Given the description of an element on the screen output the (x, y) to click on. 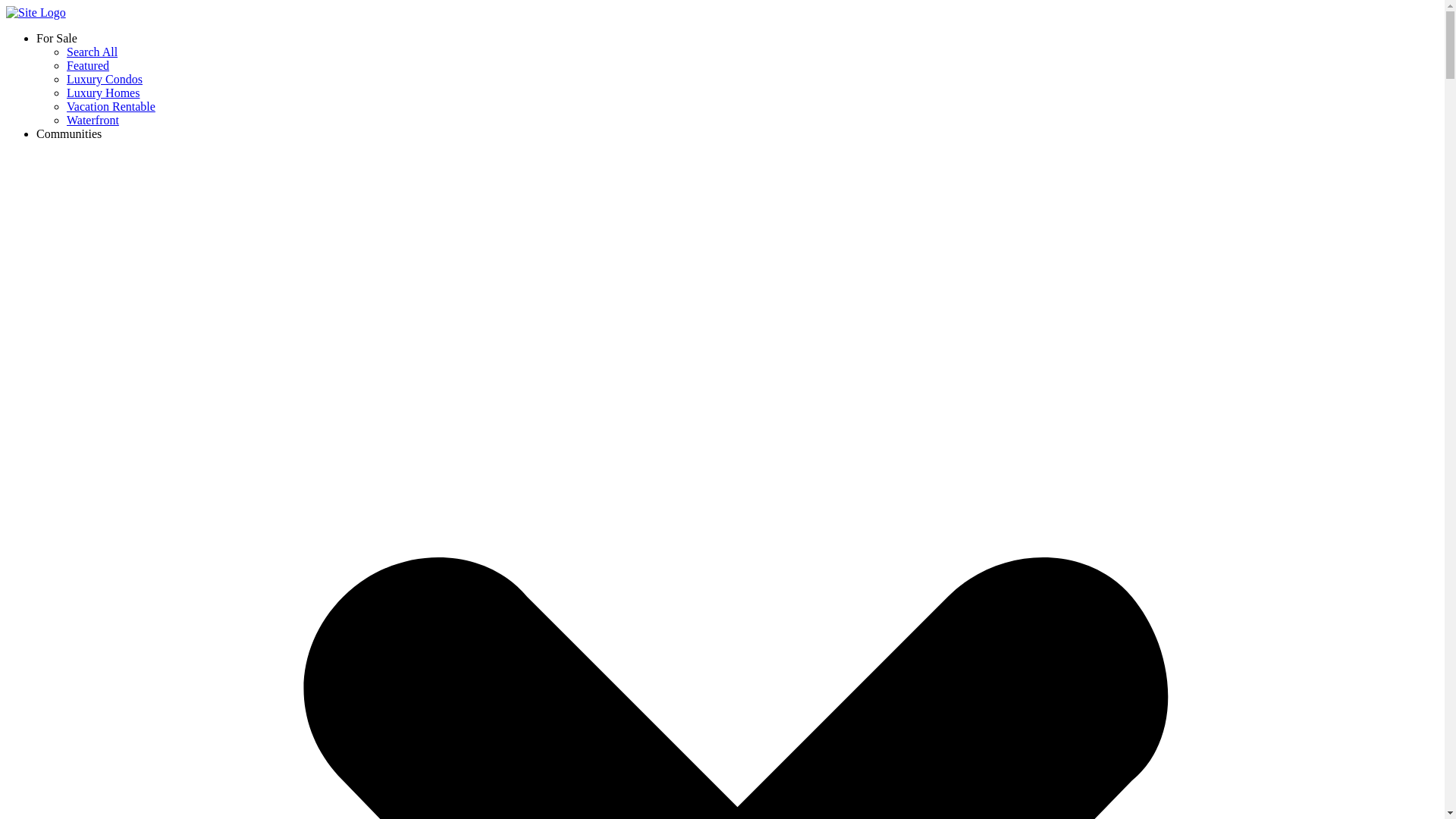
For Sale (56, 38)
Luxury Condos (104, 78)
Waterfront (92, 119)
Search All (91, 51)
Site Logo (35, 12)
Luxury Homes (102, 92)
Vacation Rentable (110, 106)
Featured (87, 65)
